Given the description of an element on the screen output the (x, y) to click on. 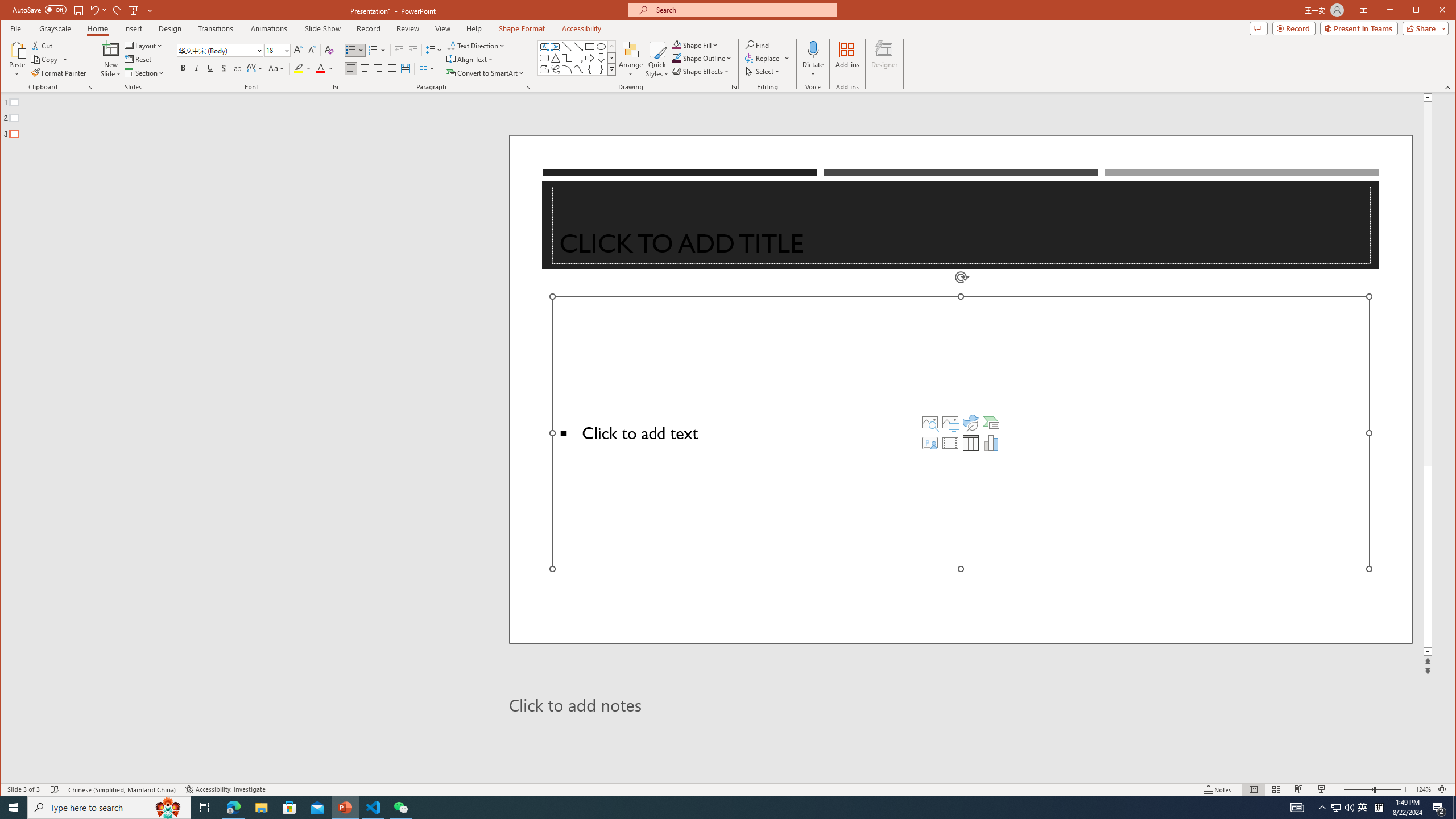
Grayscale (55, 28)
Stock Images (929, 422)
